Given the description of an element on the screen output the (x, y) to click on. 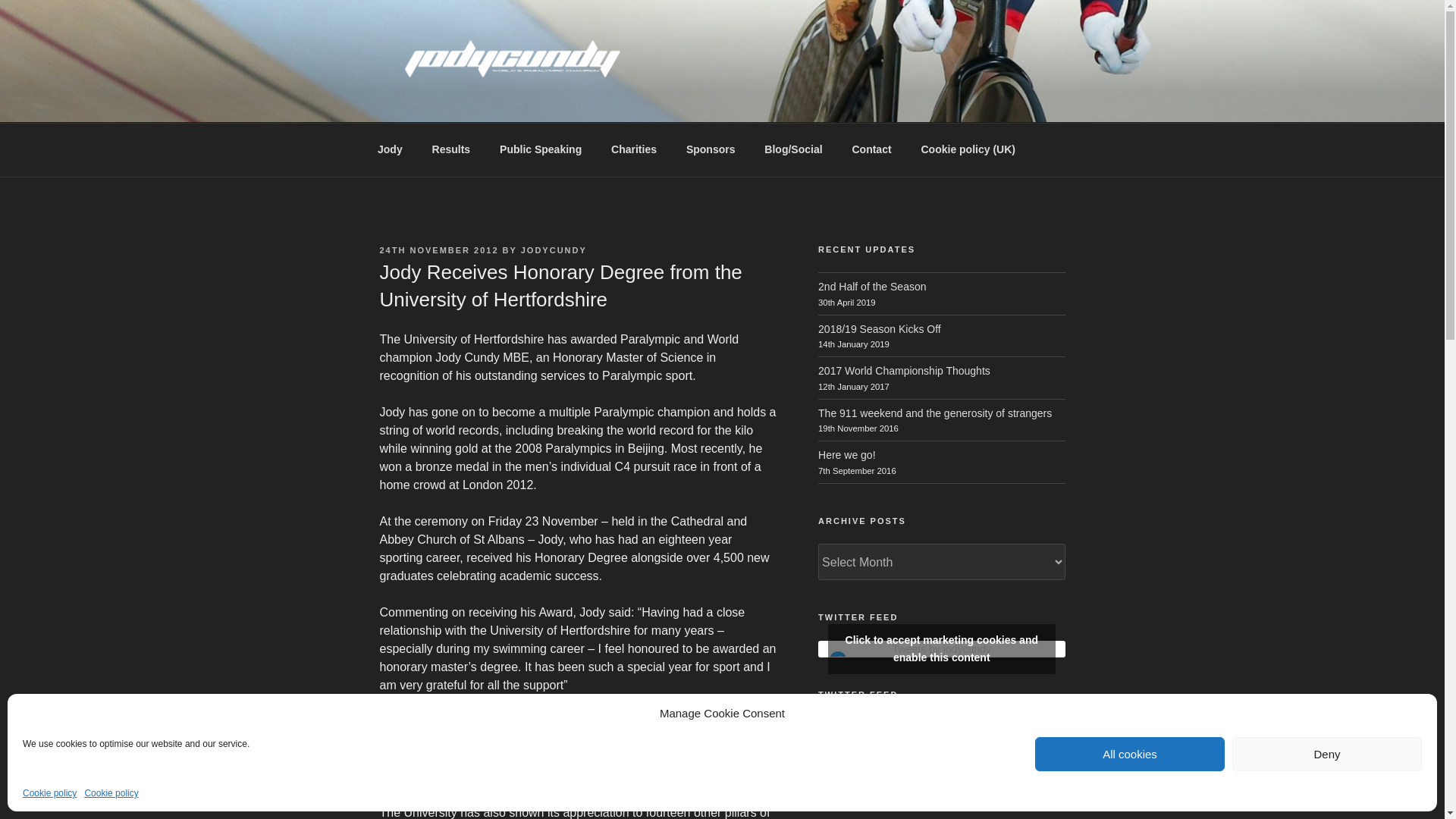
Results (451, 149)
Click to accept marketing cookies and enable this content (941, 649)
Public Speaking (540, 149)
24TH NOVEMBER 2012 (437, 249)
Contact (871, 149)
Deny (1326, 754)
The 911 weekend and the generosity of strangers (934, 413)
JODYCUNDY (553, 249)
2017 World Championship Thoughts (904, 370)
Sponsors (710, 149)
JODY CUNDY CBE (515, 102)
Cookie policy (111, 793)
2nd Half of the Season (872, 286)
All cookies (1129, 754)
Charities (633, 149)
